Given the description of an element on the screen output the (x, y) to click on. 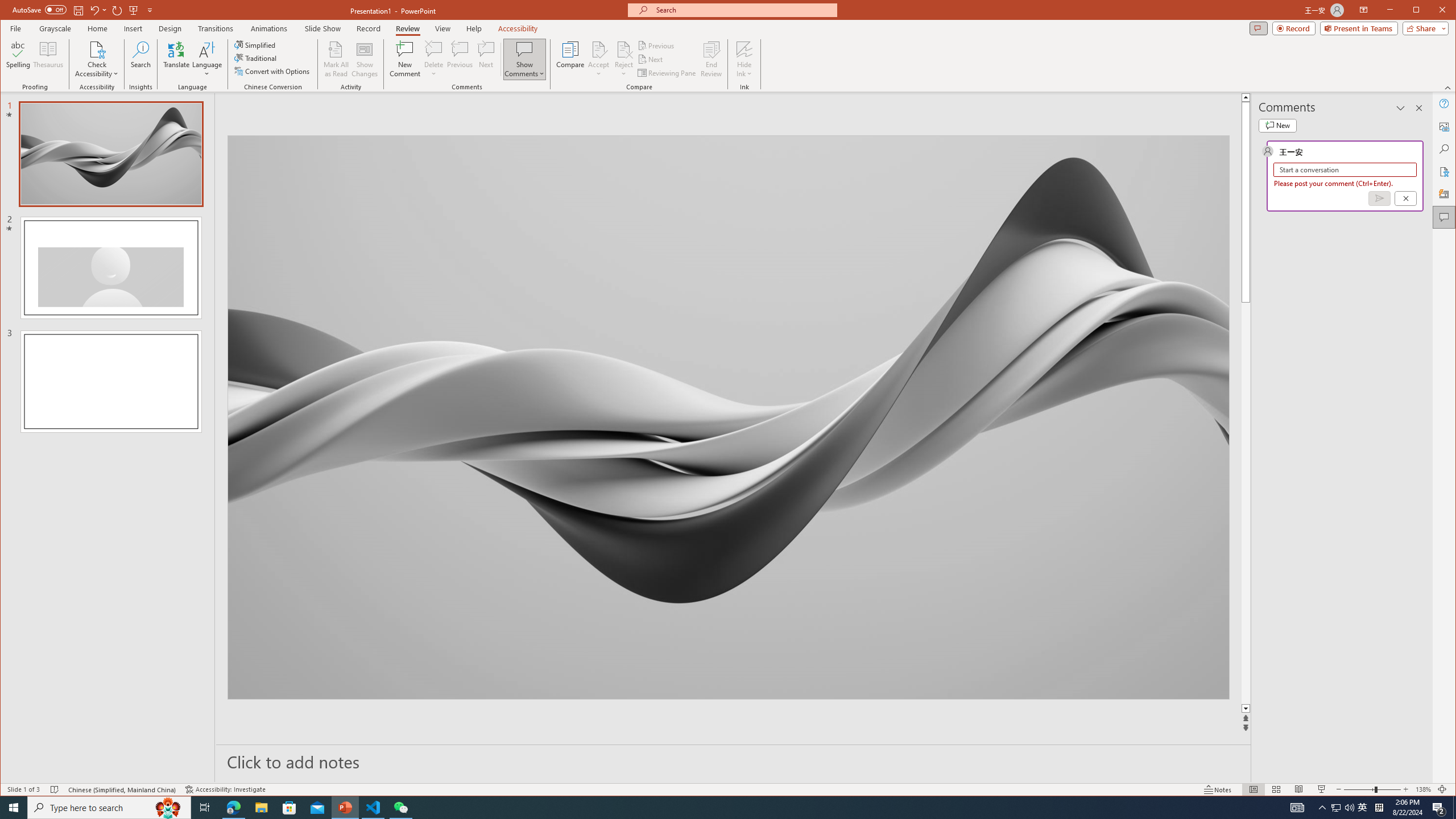
Translate (175, 59)
Reviewing Pane (667, 72)
New Comment (405, 59)
Reject Change (623, 48)
